Given the description of an element on the screen output the (x, y) to click on. 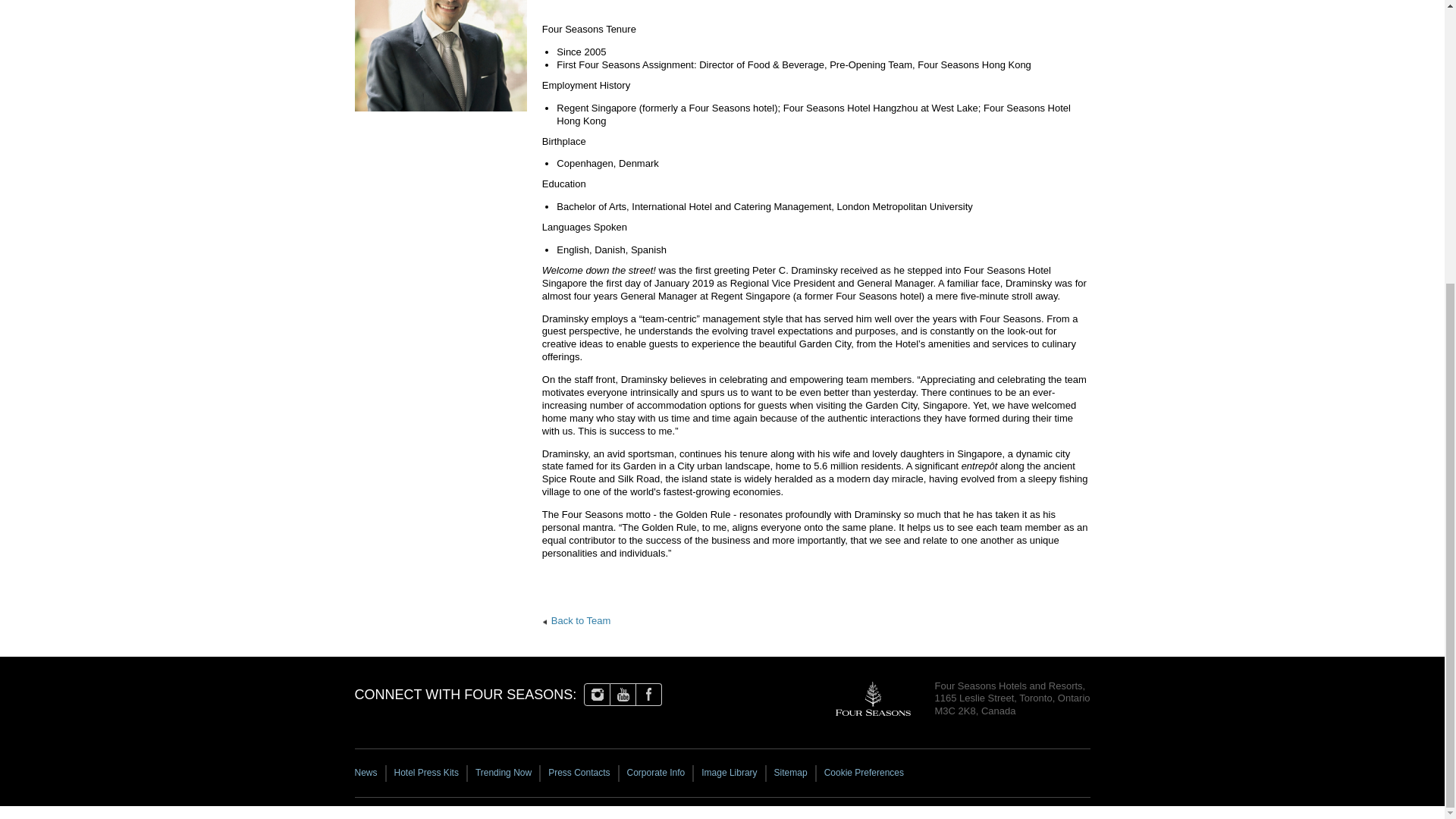
Back to Team (576, 620)
News (371, 773)
Press Contacts (579, 773)
Hotel Press Kits (427, 773)
Trending Now (503, 773)
